Given the description of an element on the screen output the (x, y) to click on. 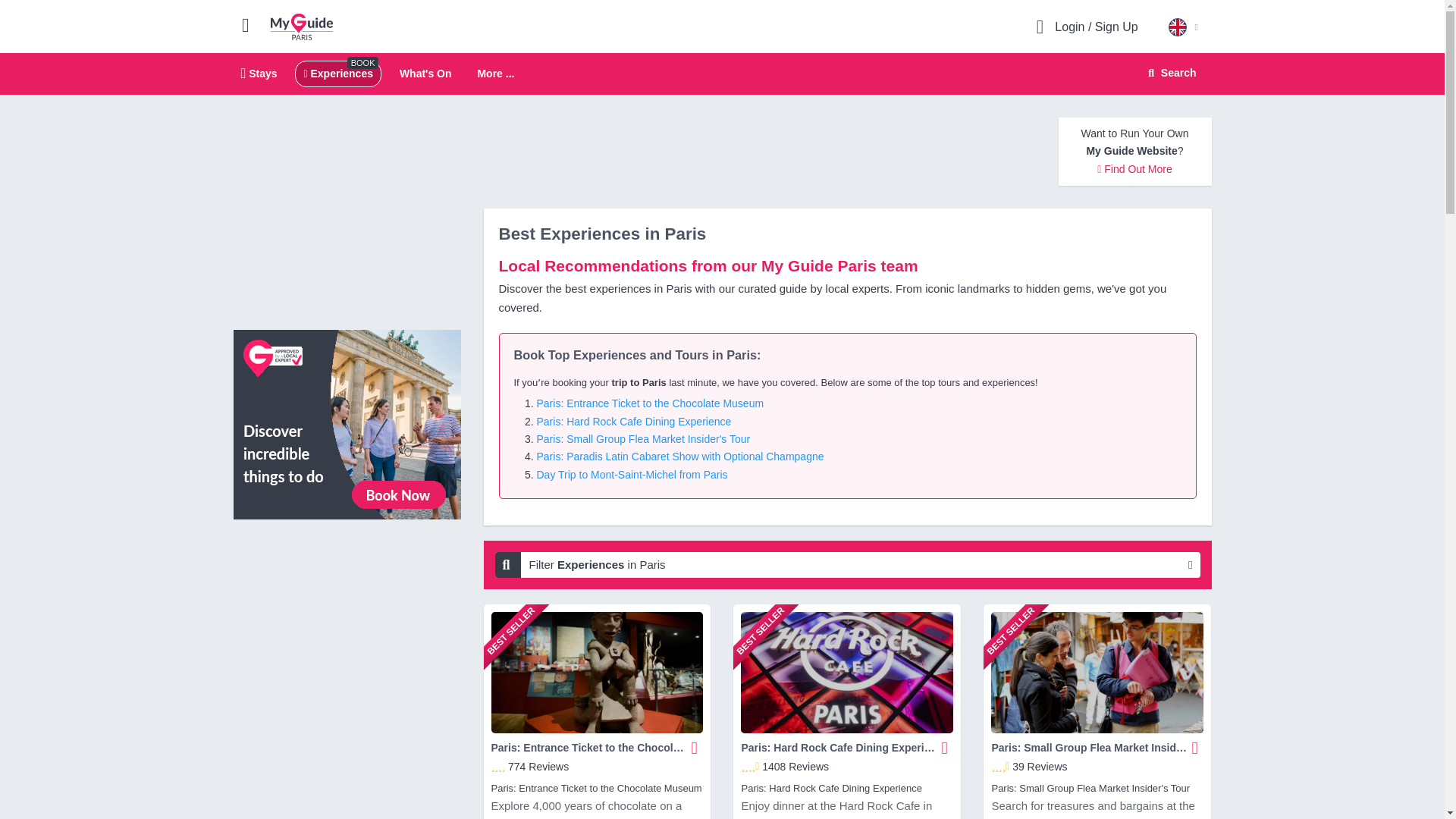
Stays (259, 73)
Experiences (337, 73)
More ... (495, 73)
GetYourGuide Widget (346, 599)
My Guide Paris (301, 25)
What's On (721, 74)
Search (424, 73)
